Given the description of an element on the screen output the (x, y) to click on. 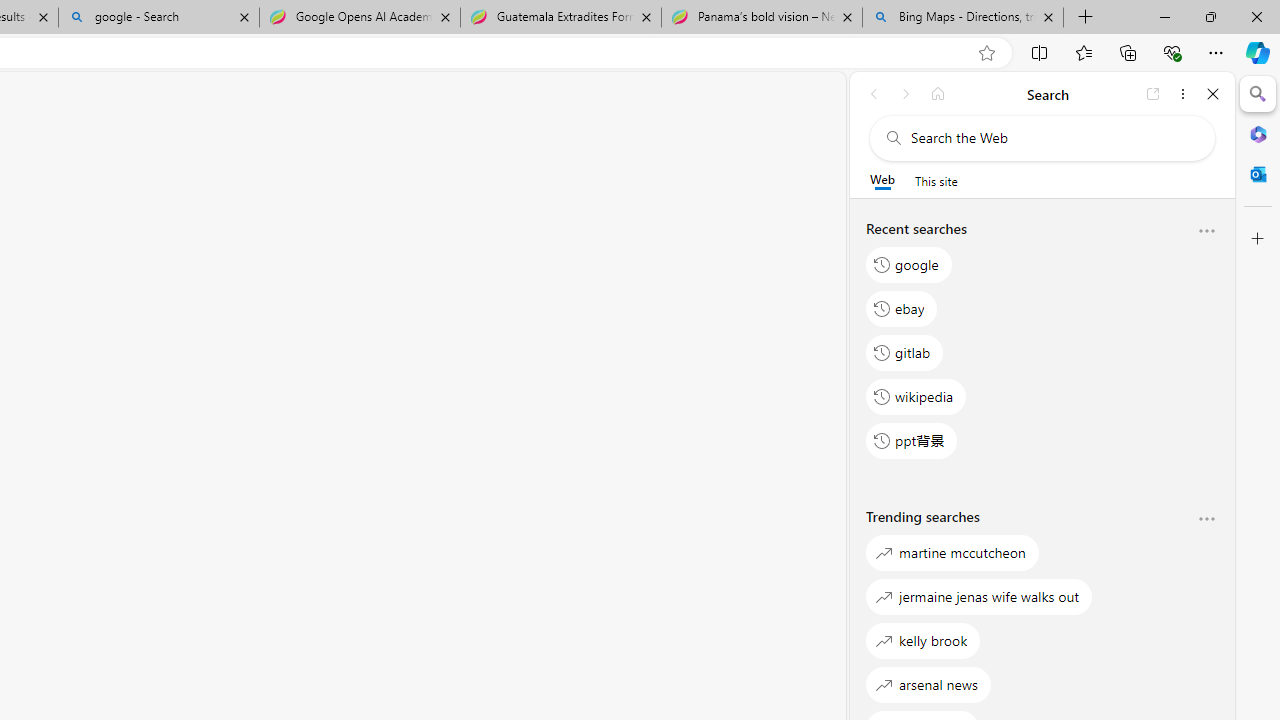
martine mccutcheon (952, 552)
ebay (902, 308)
gitlab (905, 352)
Search the web (1051, 137)
arsenal news (928, 684)
